Given the description of an element on the screen output the (x, y) to click on. 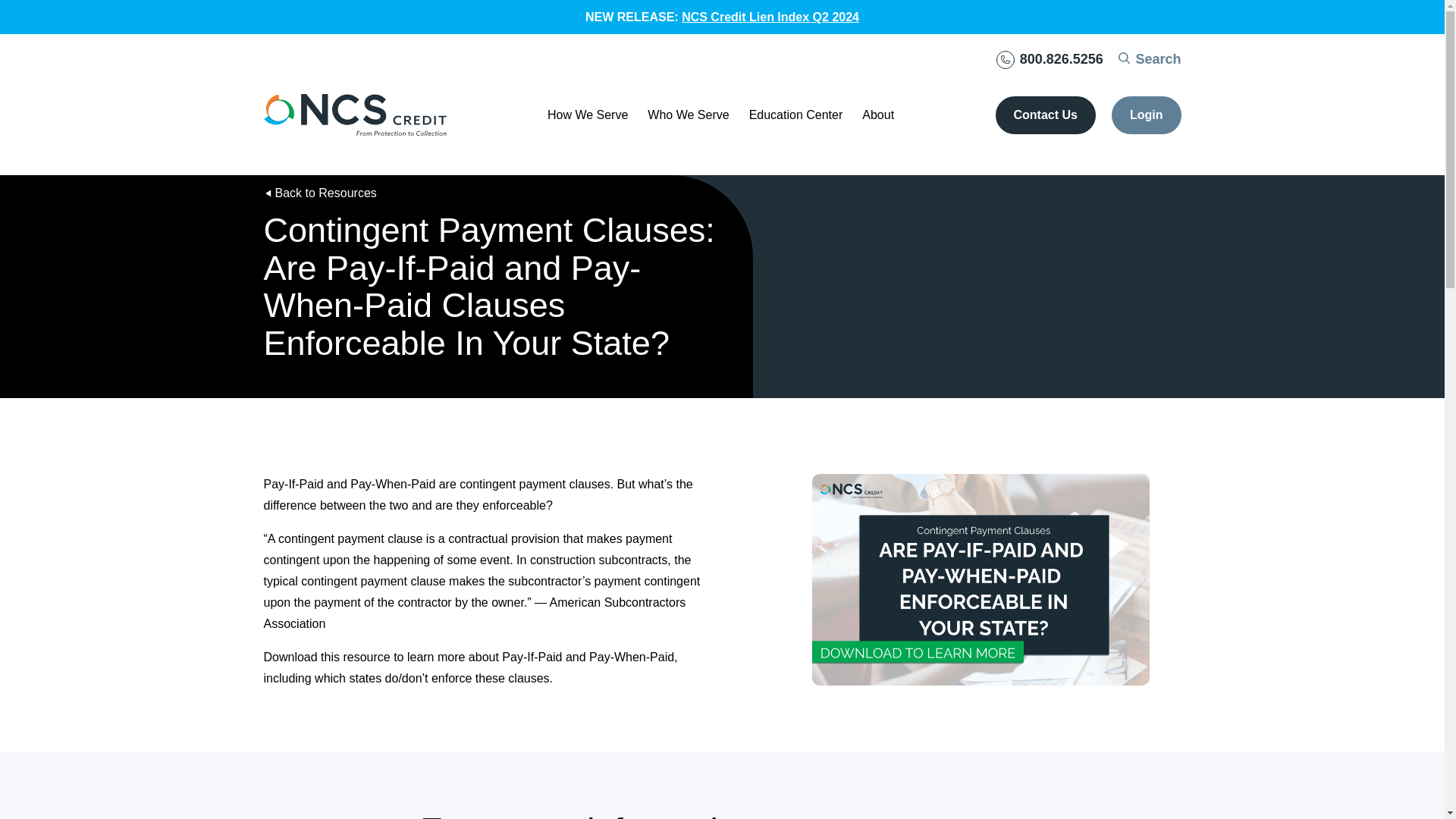
NCS Credit Lien Index Q2 2024 (770, 16)
Who We Serve (688, 114)
How We Serve (587, 114)
